Given the description of an element on the screen output the (x, y) to click on. 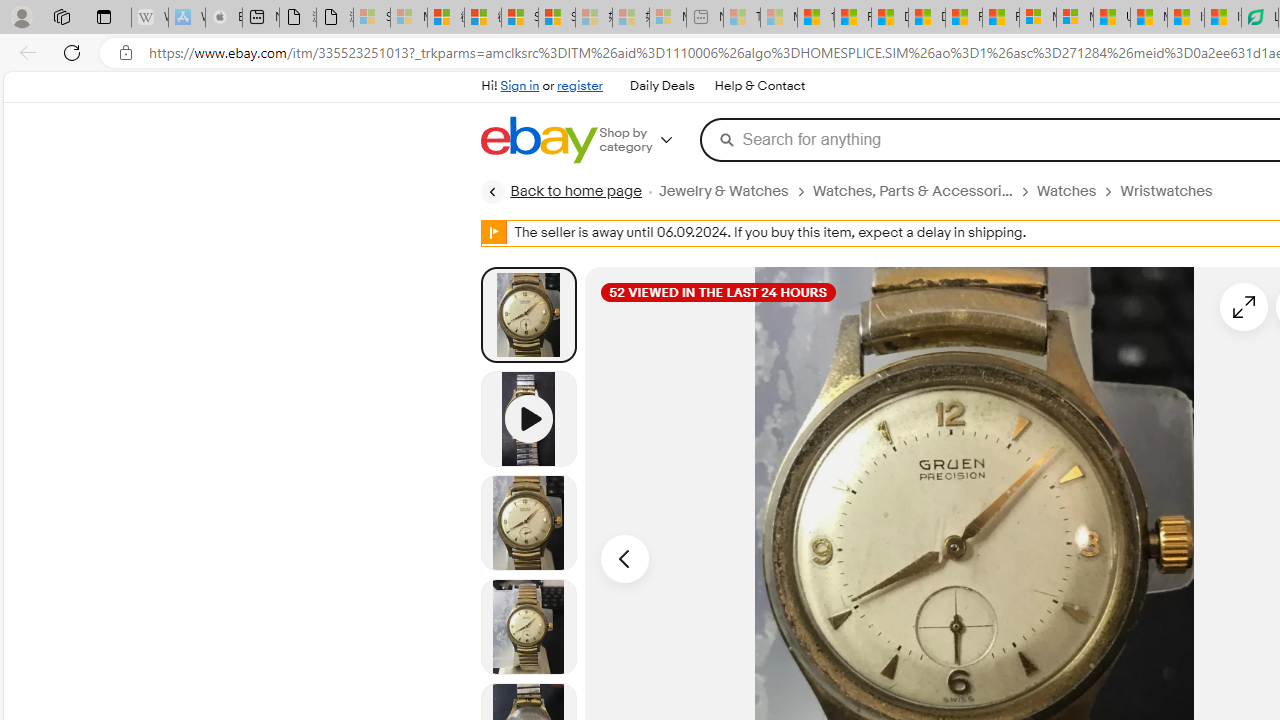
Shop by category (649, 140)
Picture 3 of 13 (528, 626)
Jewelry & Watches (734, 191)
Video 1 of 1 (528, 418)
Microsoft account | Account Checkup - Sleeping (668, 17)
Watches (1078, 191)
Help & Contact (760, 86)
Watches (1065, 191)
Wristwatches (1174, 191)
Wikipedia - Sleeping (149, 17)
